Given the description of an element on the screen output the (x, y) to click on. 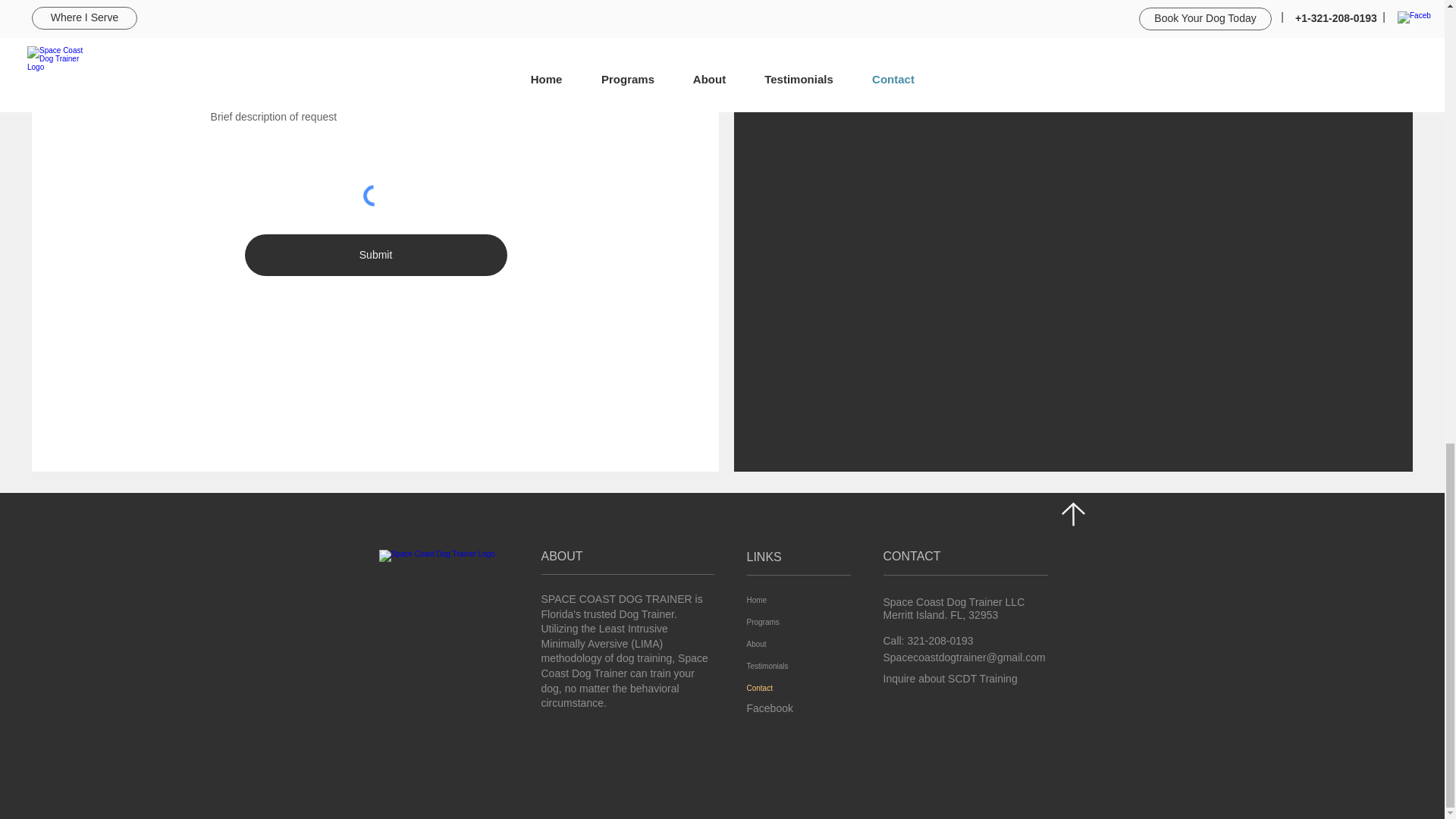
Programs (779, 621)
Submit (375, 255)
Home (779, 599)
Inquire about SCDT Training (949, 678)
Facebook (772, 708)
About (779, 644)
321-208-0193 (939, 640)
Contact (779, 688)
Testimonials (779, 666)
Space Coast Dog Trainer Logo (437, 603)
